Given the description of an element on the screen output the (x, y) to click on. 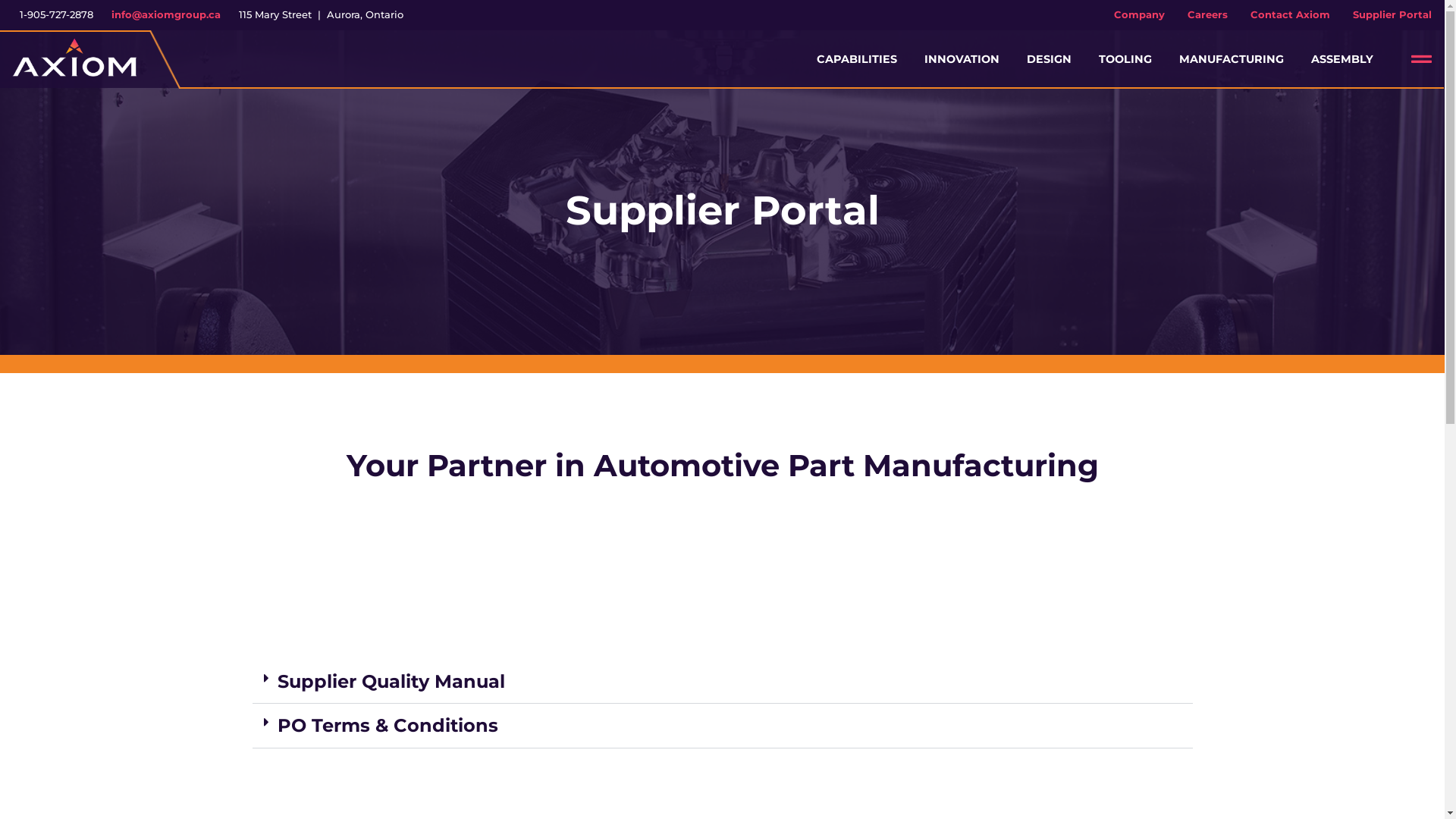
INNOVATION Element type: text (961, 59)
DESIGN Element type: text (1049, 59)
PO Terms & Conditions Element type: text (387, 725)
Contact Axiom Element type: text (1290, 14)
Careers Element type: text (1207, 14)
Supplier Quality Manual Element type: text (391, 681)
TOOLING Element type: text (1125, 59)
info@axiomgroup.ca Element type: text (165, 14)
CAPABILITIES Element type: text (856, 59)
ASSEMBLY Element type: text (1341, 59)
MANUFACTURING Element type: text (1231, 59)
Supplier Portal Element type: text (1391, 14)
Company Element type: text (1138, 14)
